Given the description of an element on the screen output the (x, y) to click on. 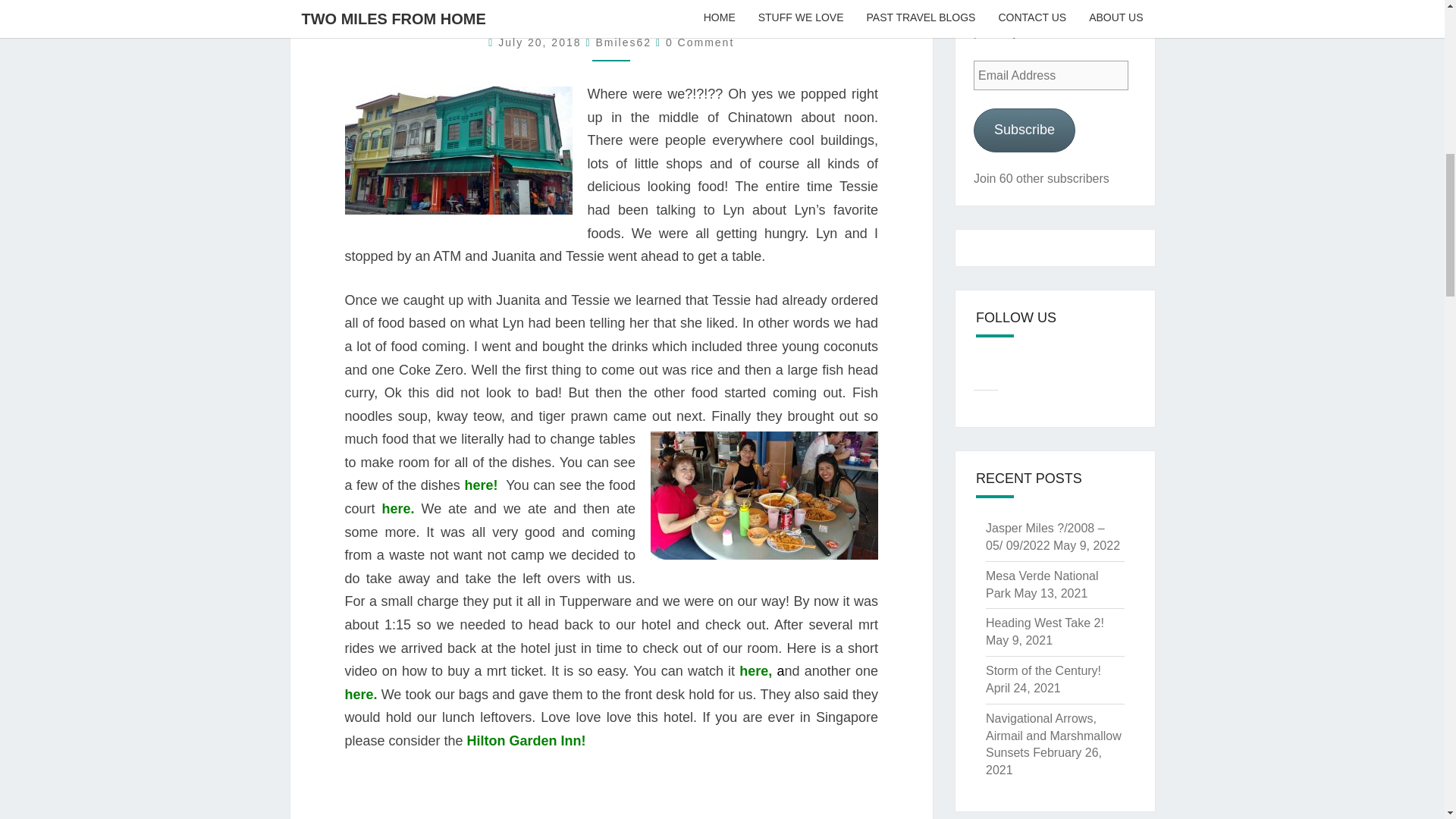
here. (360, 694)
here! (480, 485)
Instagram (1013, 371)
Hilton Garden Inn!  (526, 740)
here,  (757, 670)
Bmiles62 (622, 42)
View all posts by bmiles62 (622, 42)
8:25 pm (541, 42)
0 Comment (699, 42)
July 20, 2018 (541, 42)
Subscribe (1024, 129)
Facebook (985, 371)
here. (397, 508)
